Given the description of an element on the screen output the (x, y) to click on. 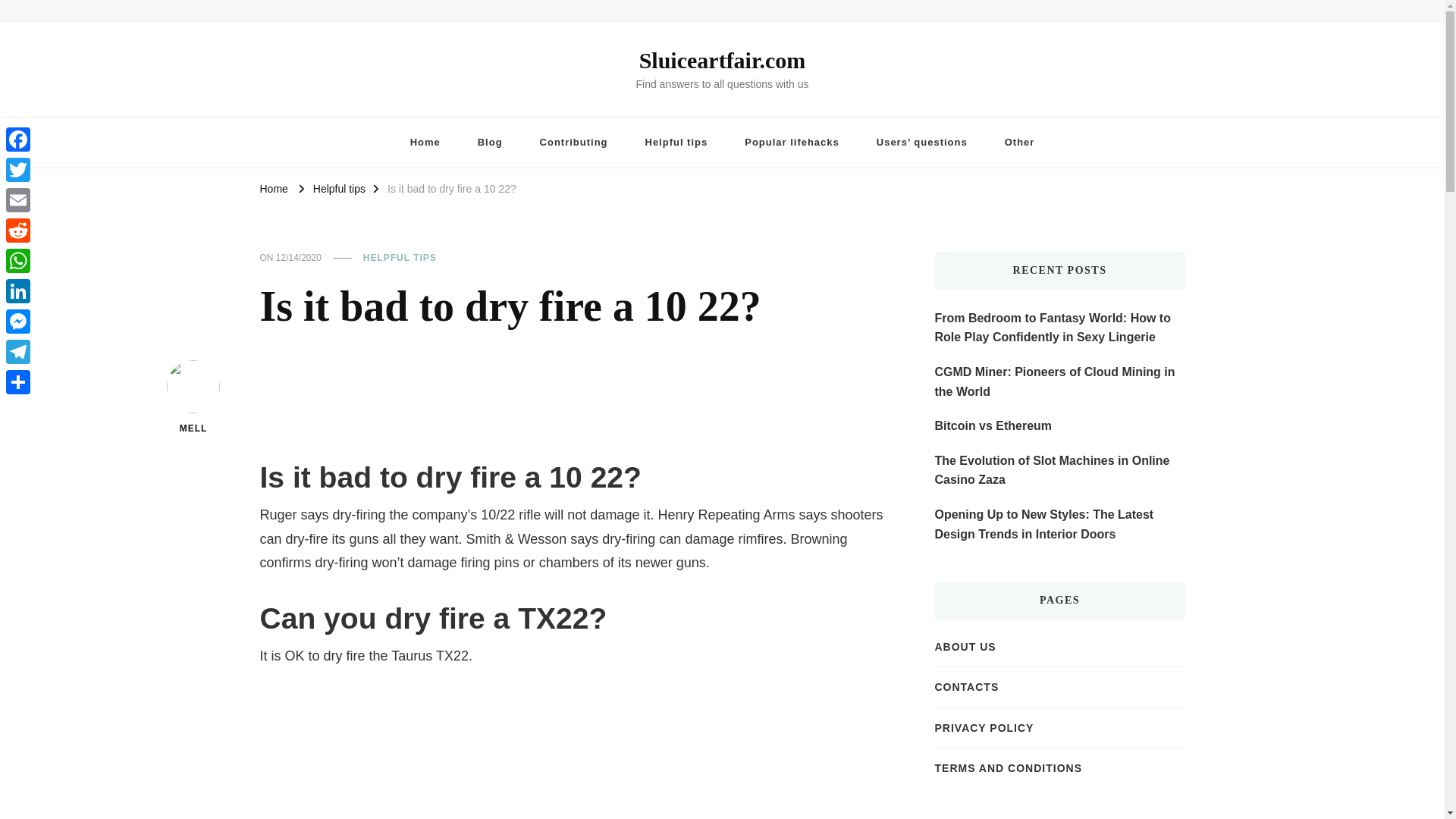
Email (17, 200)
Reddit (17, 230)
Facebook (17, 139)
Twitter (17, 169)
TERMS AND CONDITIONS (1007, 768)
CONTACTS (966, 686)
Home (272, 187)
ABOUT US (964, 646)
PRIVACY POLICY (983, 727)
Contributing (573, 142)
WhatsApp (17, 260)
Helpful tips (676, 142)
Popular lifehacks (792, 142)
Sluiceartfair.com (722, 59)
